Given the description of an element on the screen output the (x, y) to click on. 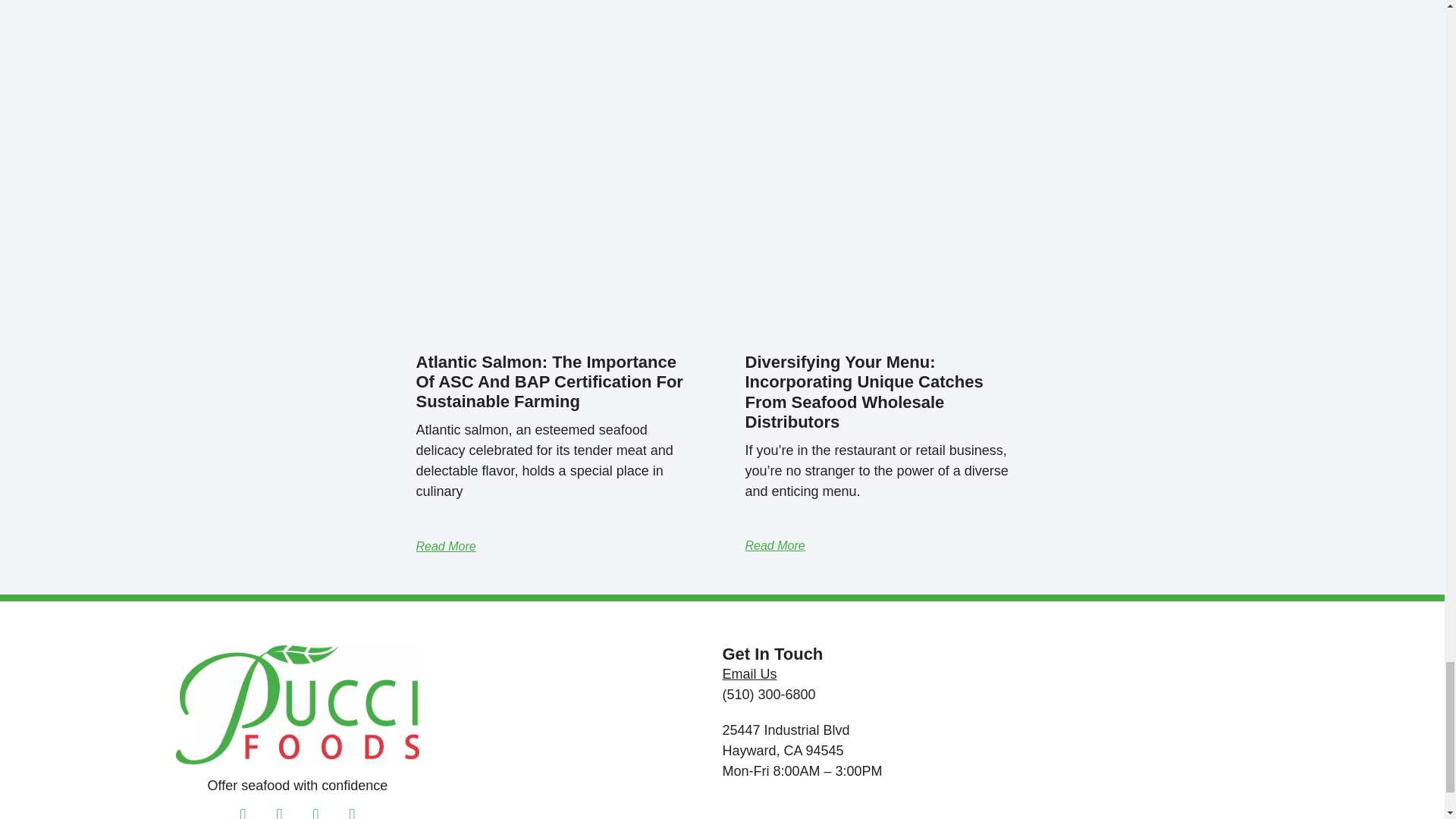
Read More (445, 545)
